Given the description of an element on the screen output the (x, y) to click on. 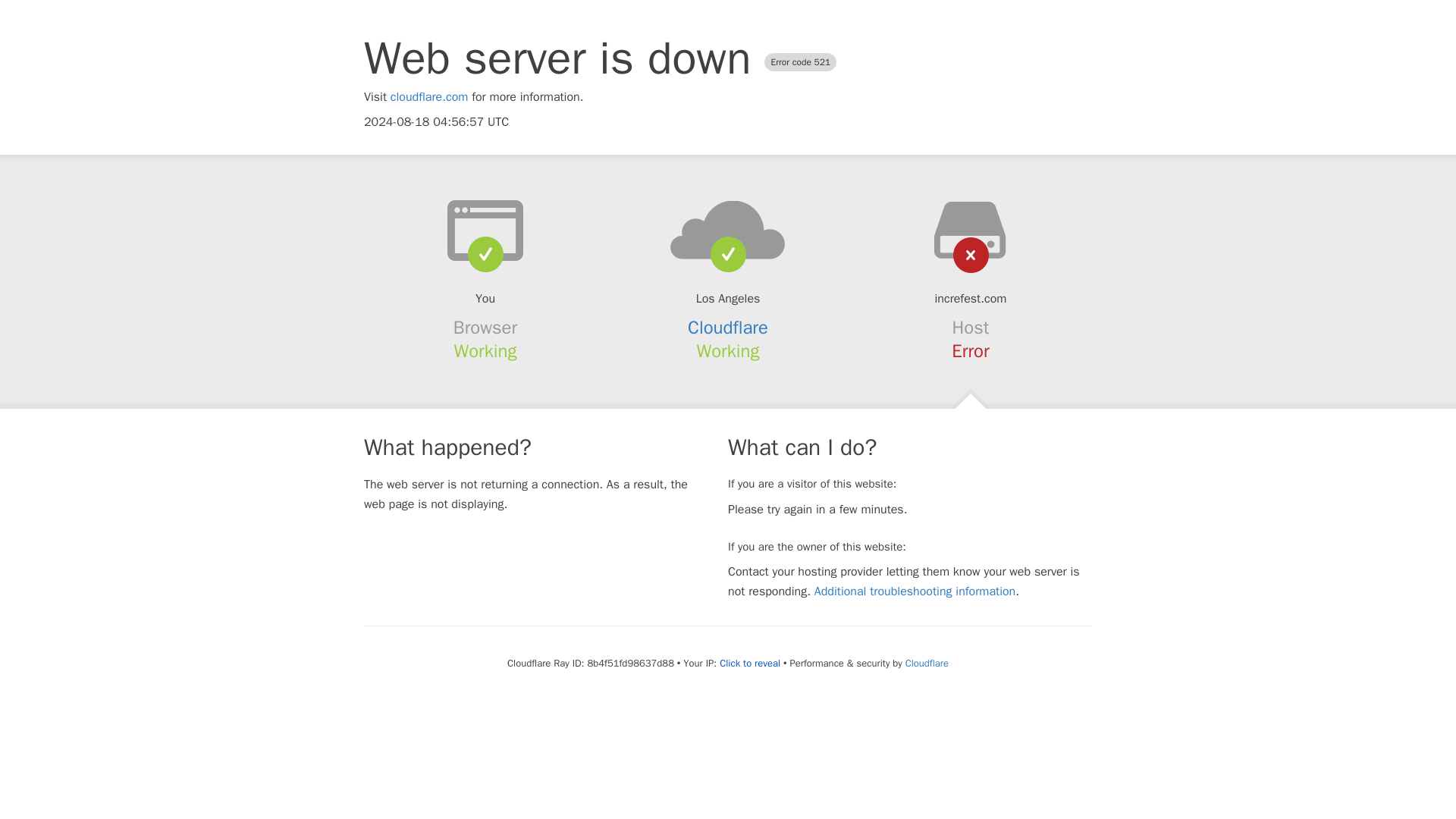
Cloudflare (927, 662)
Cloudflare (727, 327)
Additional troubleshooting information (913, 590)
Click to reveal (749, 663)
cloudflare.com (429, 96)
